Given the description of an element on the screen output the (x, y) to click on. 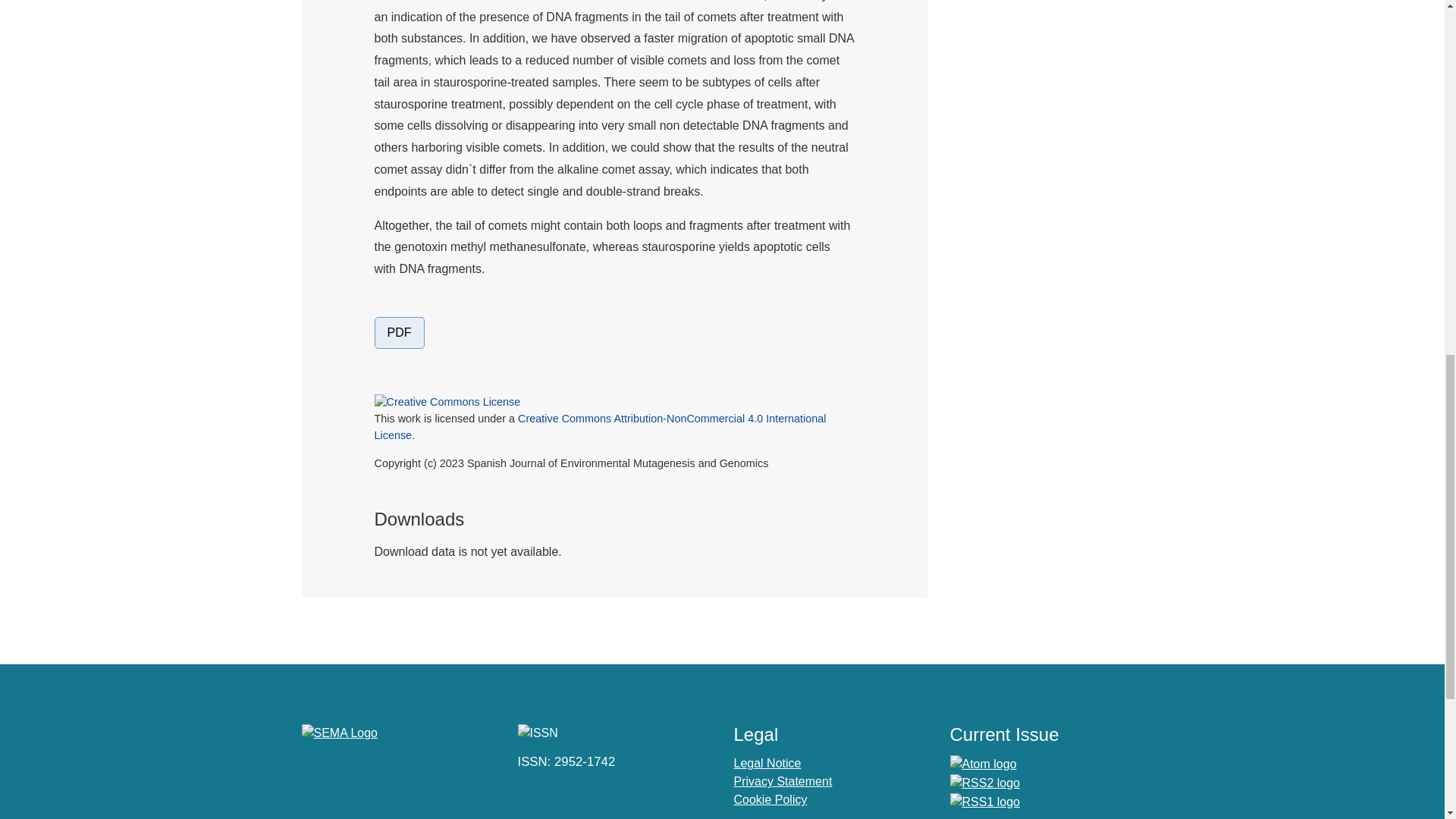
PDF (399, 332)
Cookie Policy (770, 799)
Privacy Statement (782, 780)
Legal Notice (767, 762)
